Given the description of an element on the screen output the (x, y) to click on. 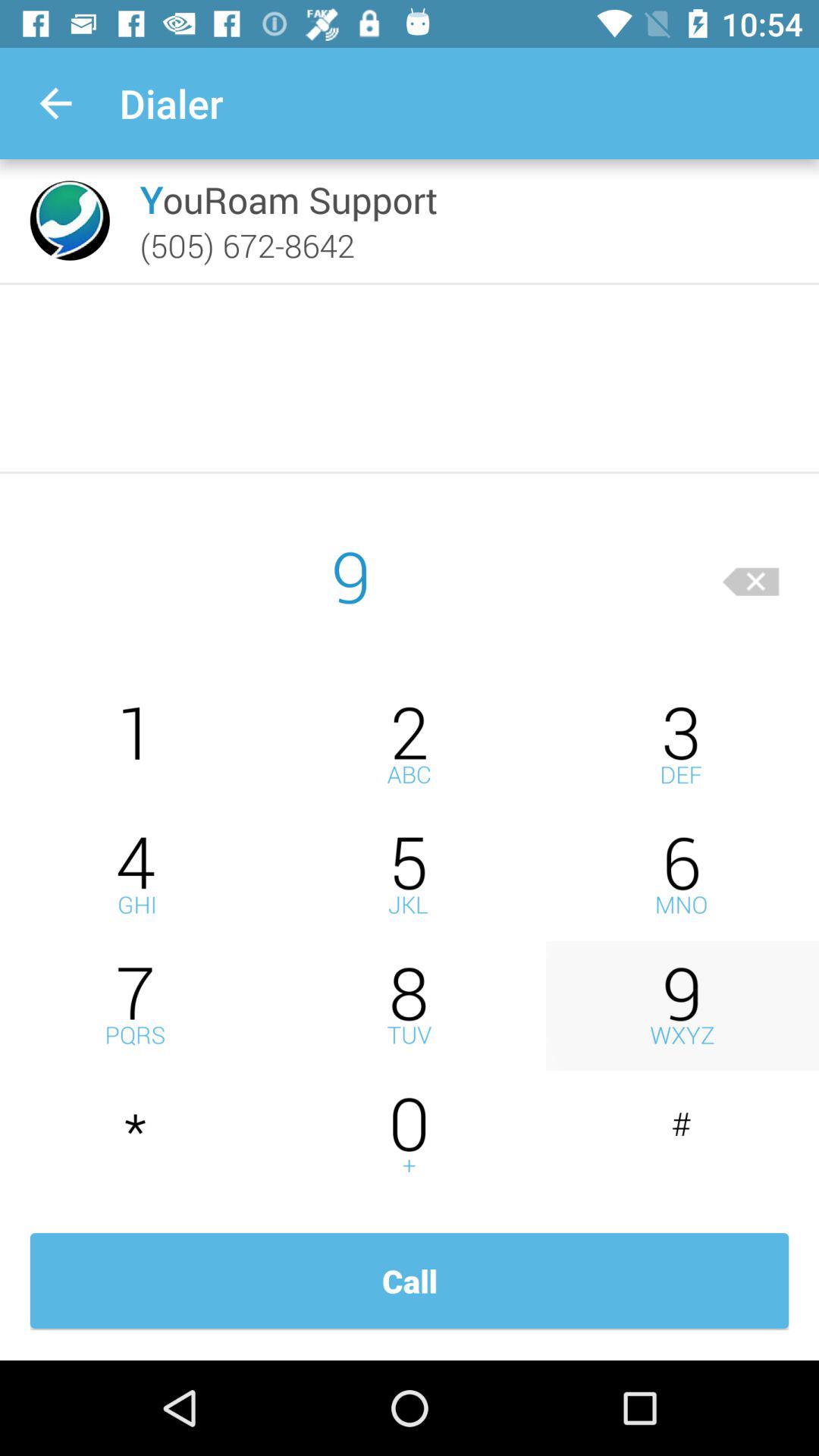
dial 6 (682, 875)
